Given the description of an element on the screen output the (x, y) to click on. 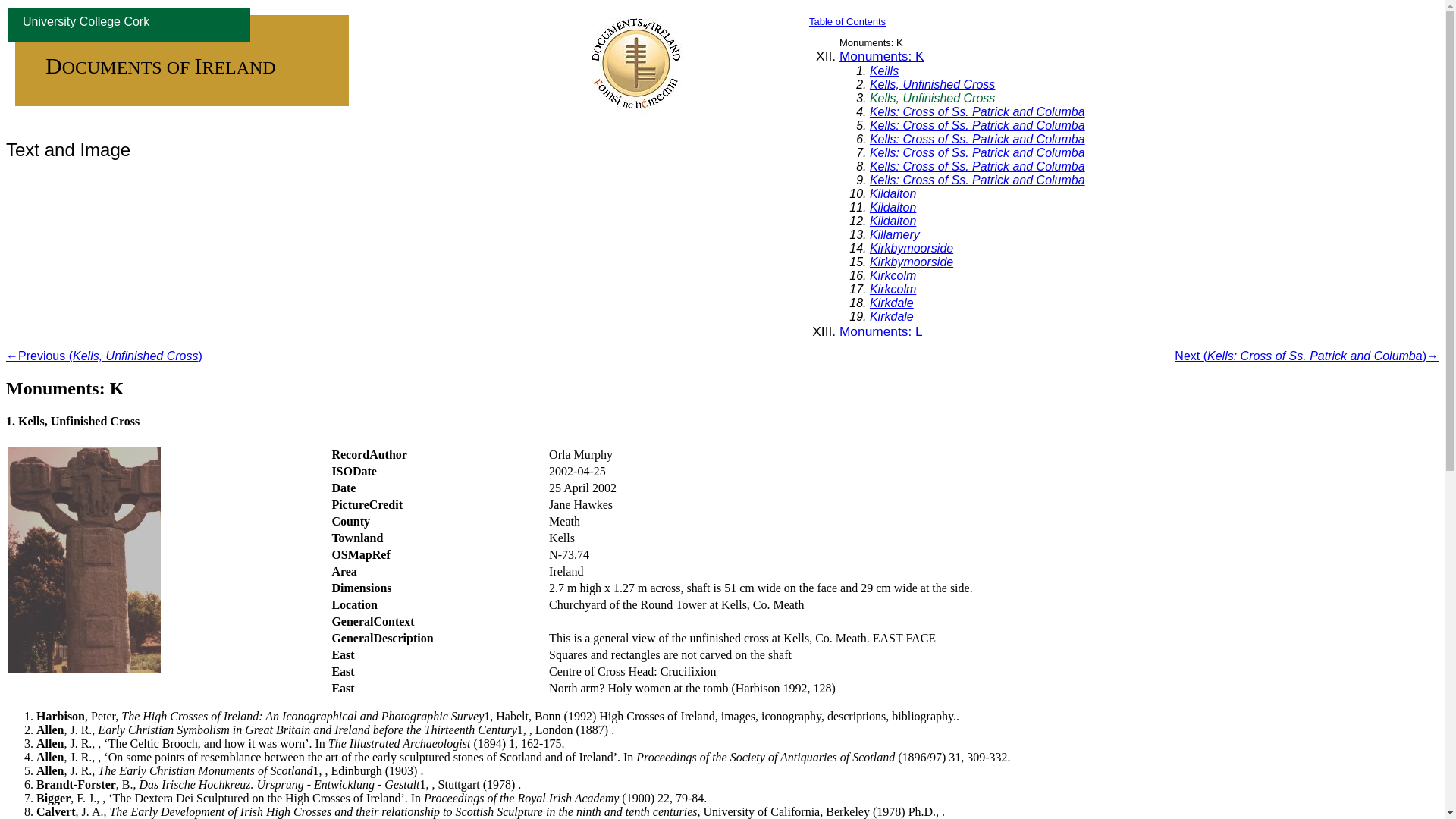
xptr (891, 316)
xptr (976, 165)
div1 (881, 331)
Kells: Cross of Ss. Patrick and Columba (976, 179)
xptr (976, 111)
Kirkcolm (892, 288)
Kells, Unfinished Cross (931, 97)
Monuments: L (881, 331)
xptr (892, 275)
Kells, Unfinished Cross (931, 83)
Kildalton (892, 206)
xptr (892, 206)
xptr (892, 220)
xptr (911, 247)
Kells: Cross of Ss. Patrick and Columba (976, 124)
